Given the description of an element on the screen output the (x, y) to click on. 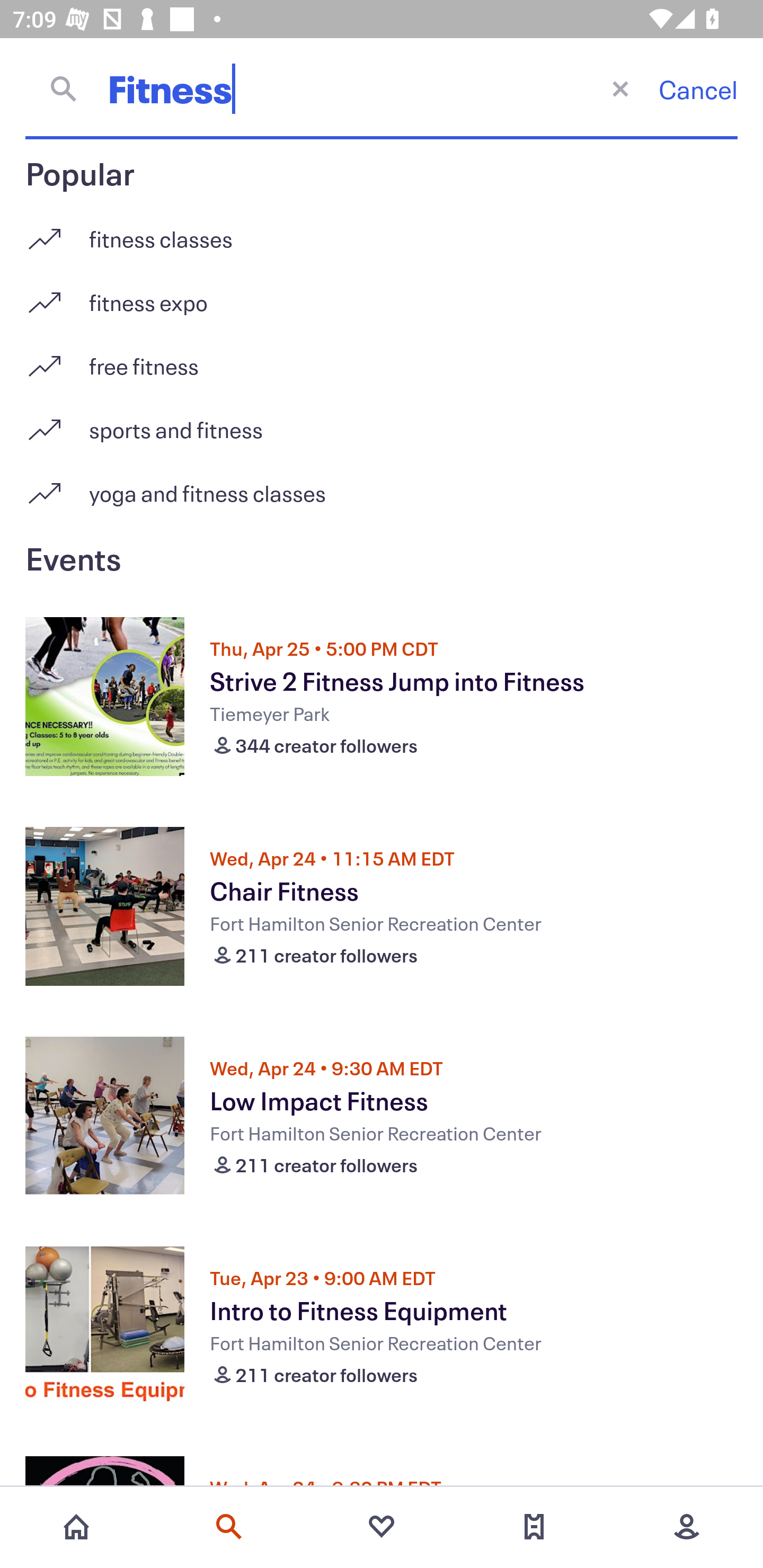
Fitness Close current screen Cancel (381, 88)
Close current screen (620, 88)
Cancel (697, 89)
fitness classes (381, 231)
fitness expo (381, 295)
free fitness (381, 358)
sports and fitness (381, 422)
yoga and fitness classes (381, 492)
Home (76, 1526)
Search events (228, 1526)
Favorites (381, 1526)
Tickets (533, 1526)
More (686, 1526)
